Given the description of an element on the screen output the (x, y) to click on. 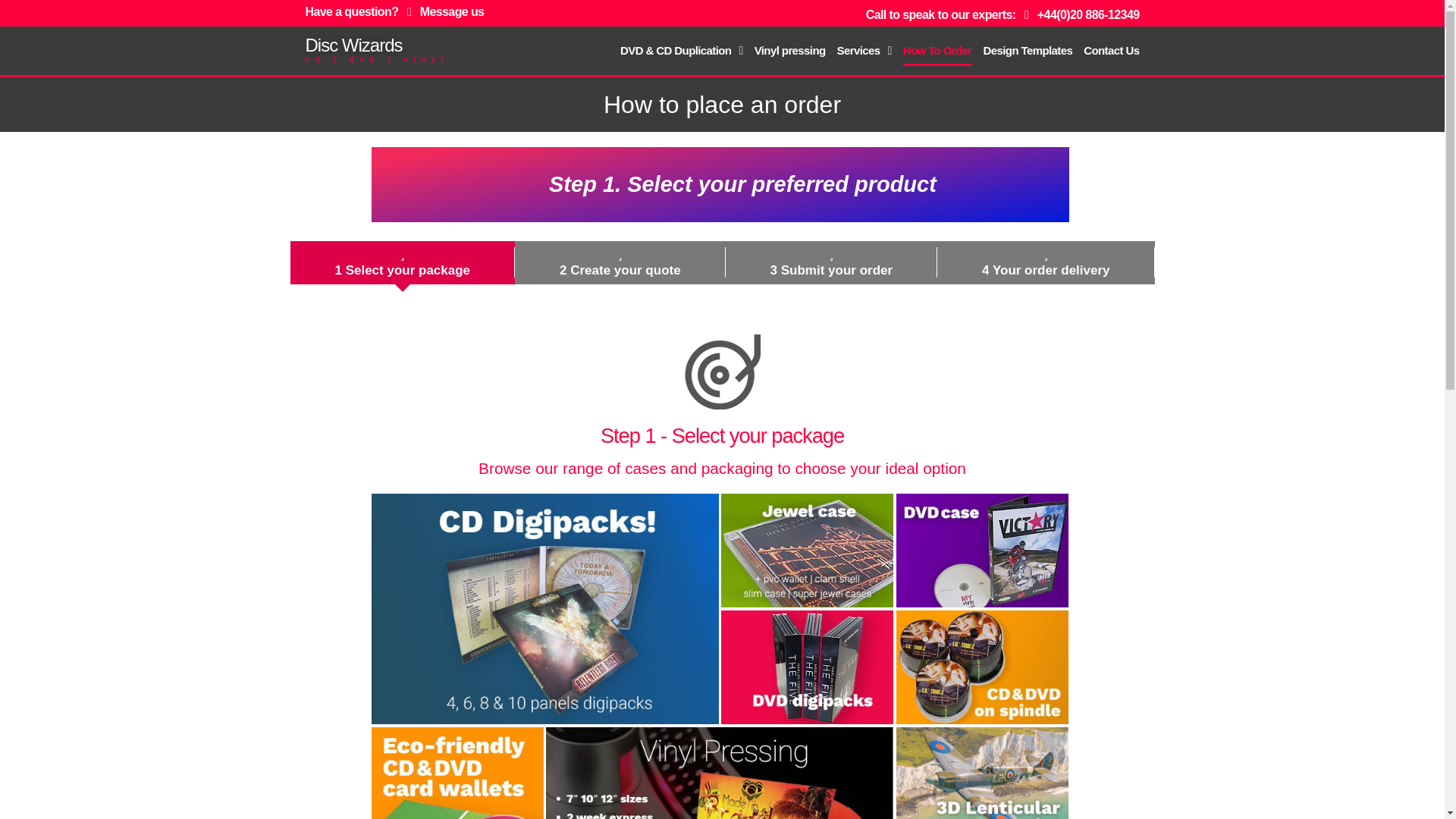
How To Order (937, 51)
Design Templates (1028, 51)
Disc Wizards (352, 45)
Services (864, 51)
Have a question?      Message us (393, 11)
Contact Us (1110, 51)
Vinyl pressing (789, 51)
